Given the description of an element on the screen output the (x, y) to click on. 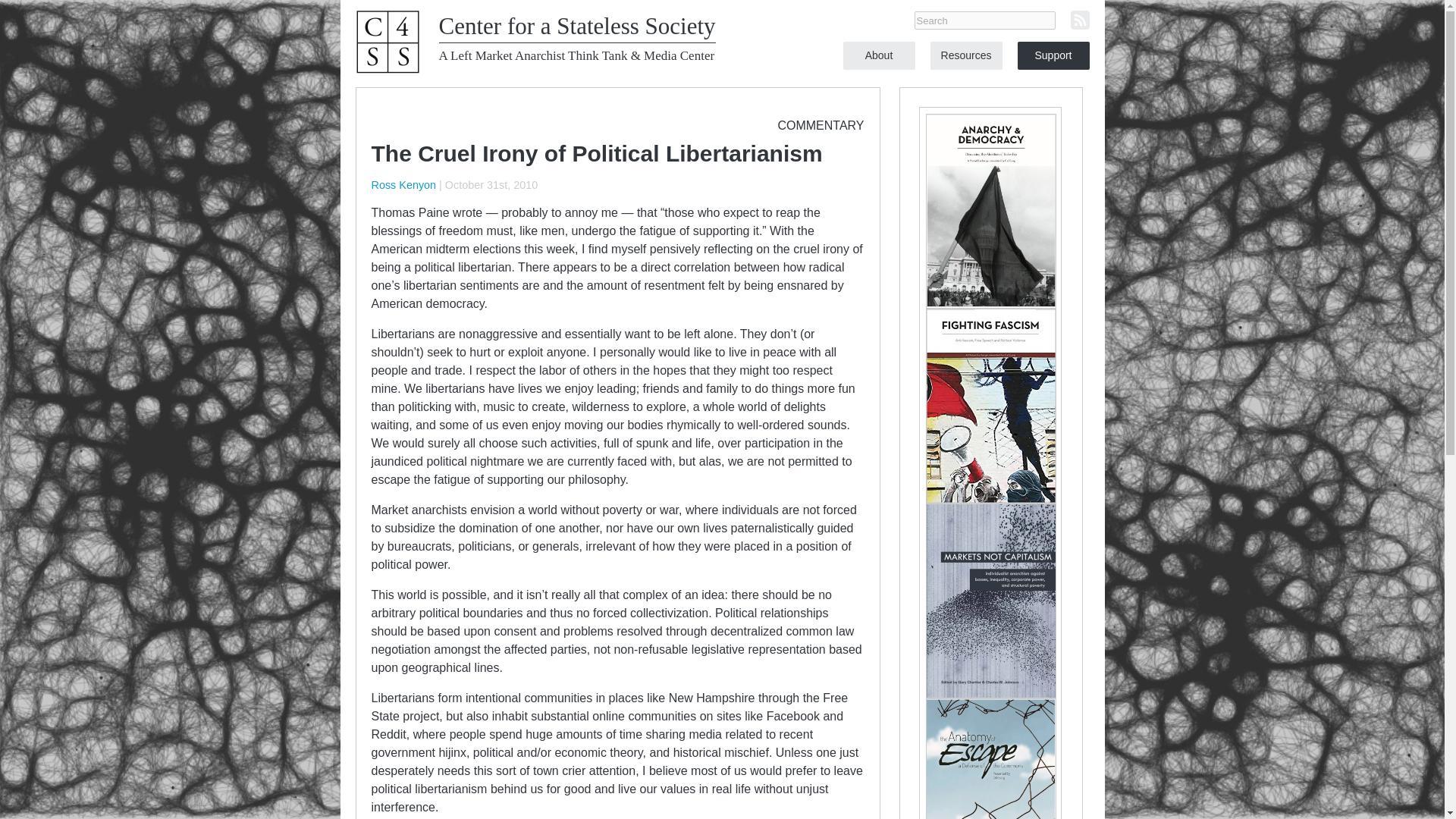
Search (984, 20)
Ross Kenyon (403, 184)
Posts by Ross Kenyon (403, 184)
Search (984, 20)
COMMENTARY (820, 124)
